Given the description of an element on the screen output the (x, y) to click on. 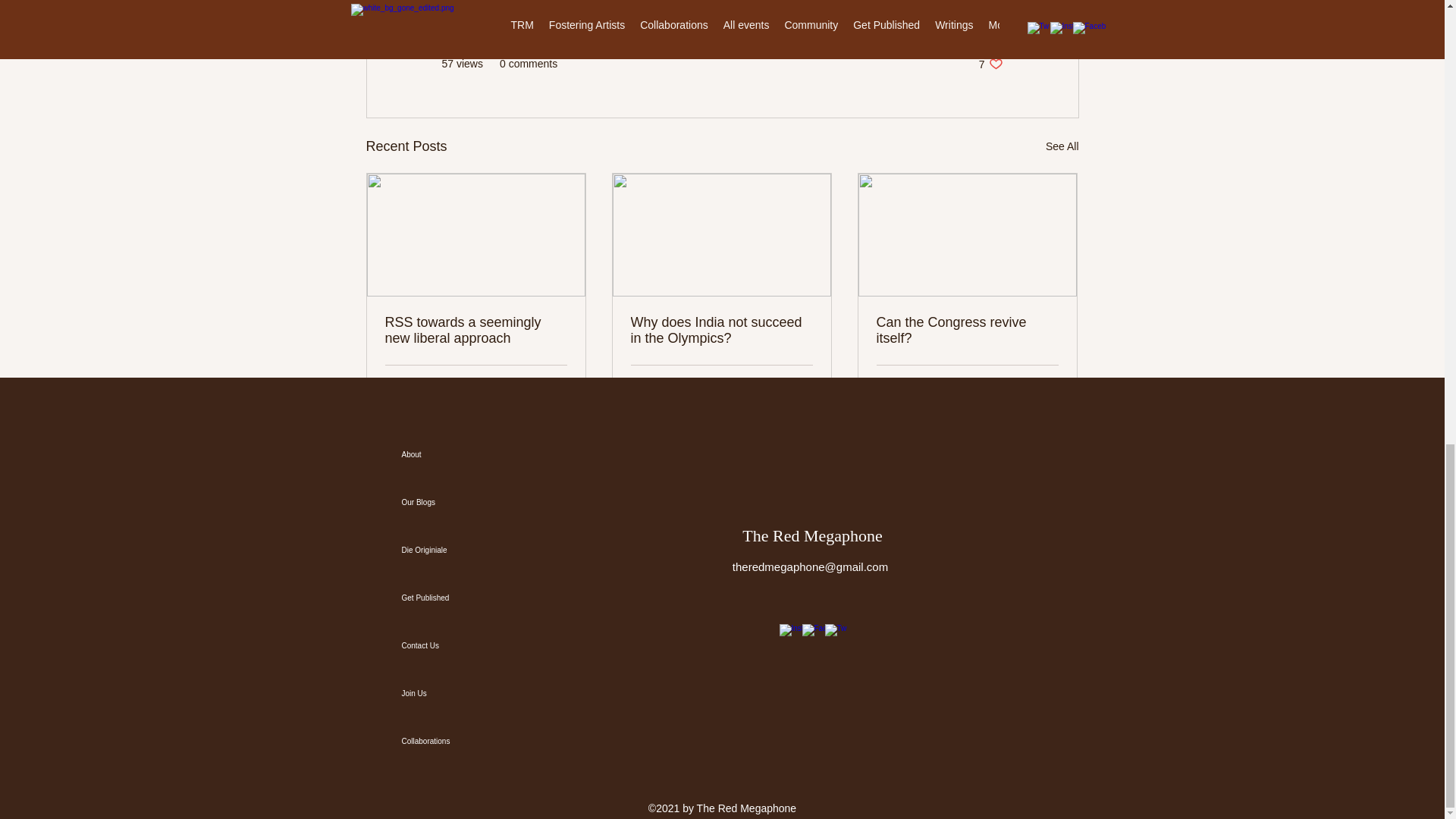
Why does India not succeed in the Olympics? (721, 330)
Contact Us (1046, 383)
0 (454, 645)
See All (681, 383)
About (1061, 146)
Collaborations (454, 454)
Die Originiale (454, 740)
0 (454, 550)
The Red Megaphone (440, 383)
